Given the description of an element on the screen output the (x, y) to click on. 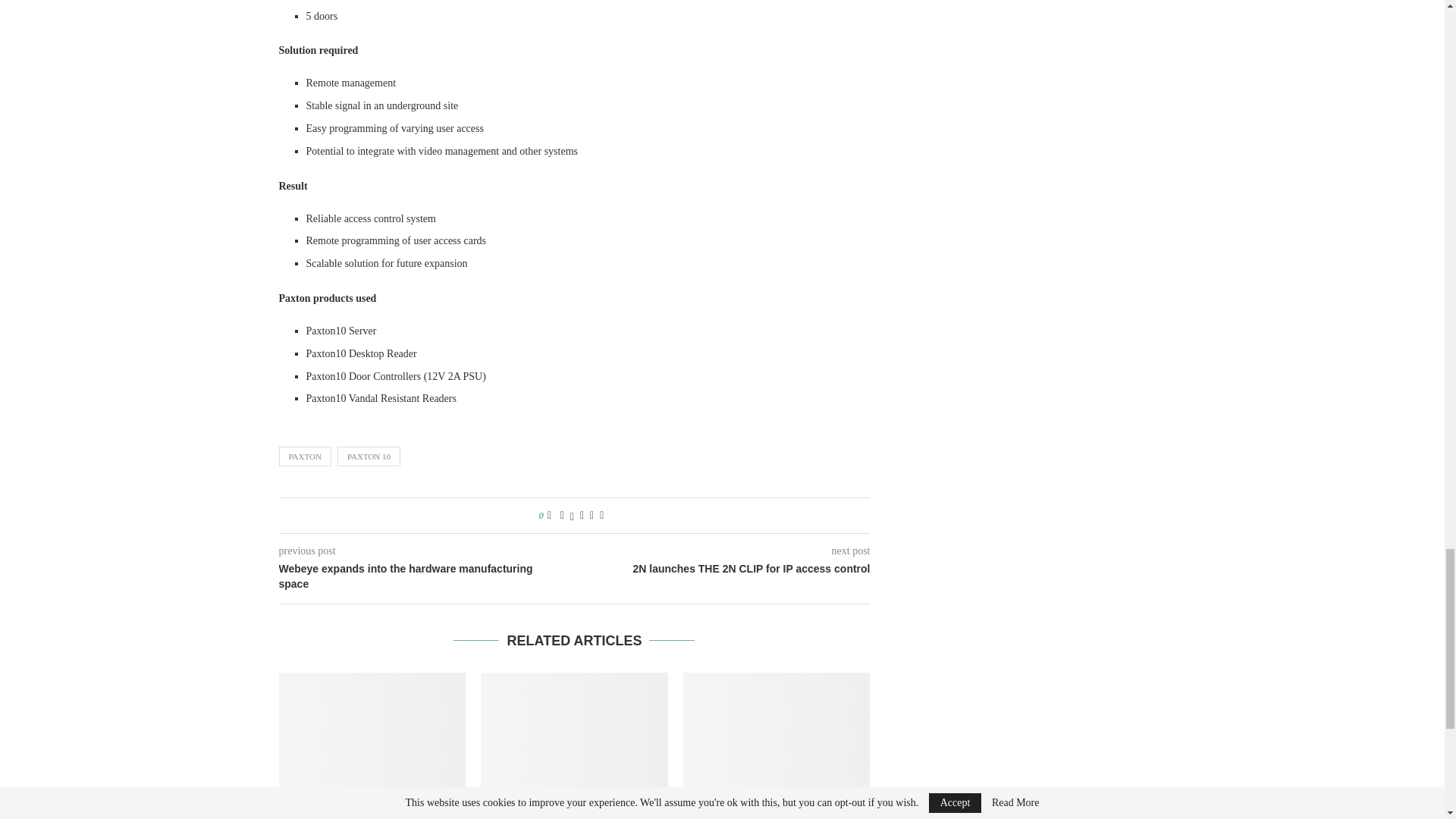
PAXTON (305, 456)
New senior leadership for Paxton to help global growth (574, 734)
Education and culture complex in Berlin chooses Paxton 10 (776, 734)
PAXTON 10 (368, 456)
Installers benefit from Paxton Tech Tour (372, 734)
